Given the description of an element on the screen output the (x, y) to click on. 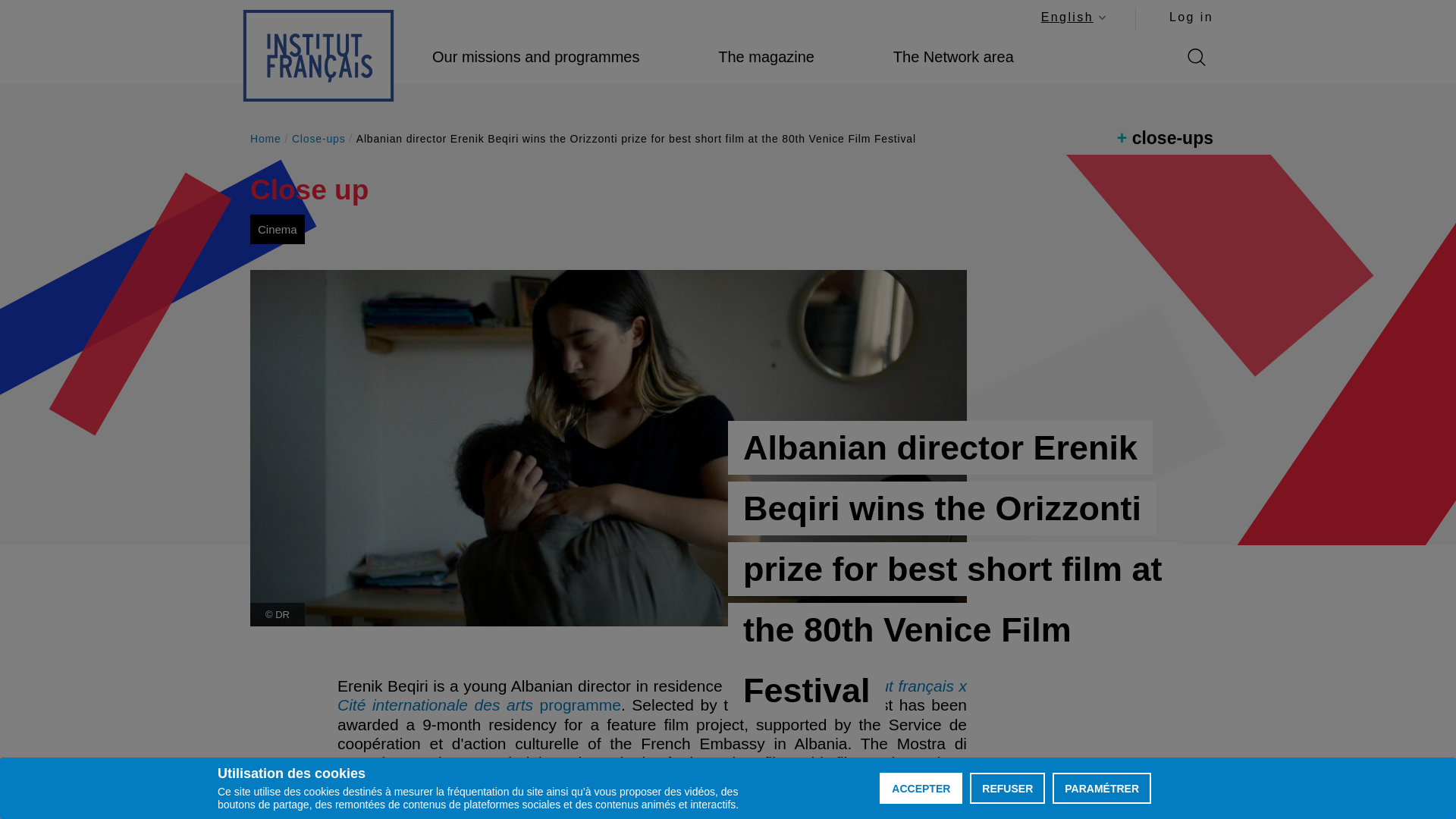
Accept cookies (920, 788)
Log in (1190, 16)
REFUSER (1007, 788)
Home (318, 55)
Our missions and programmes (535, 57)
The magazine (766, 57)
ACCEPTER (920, 788)
